Given the description of an element on the screen output the (x, y) to click on. 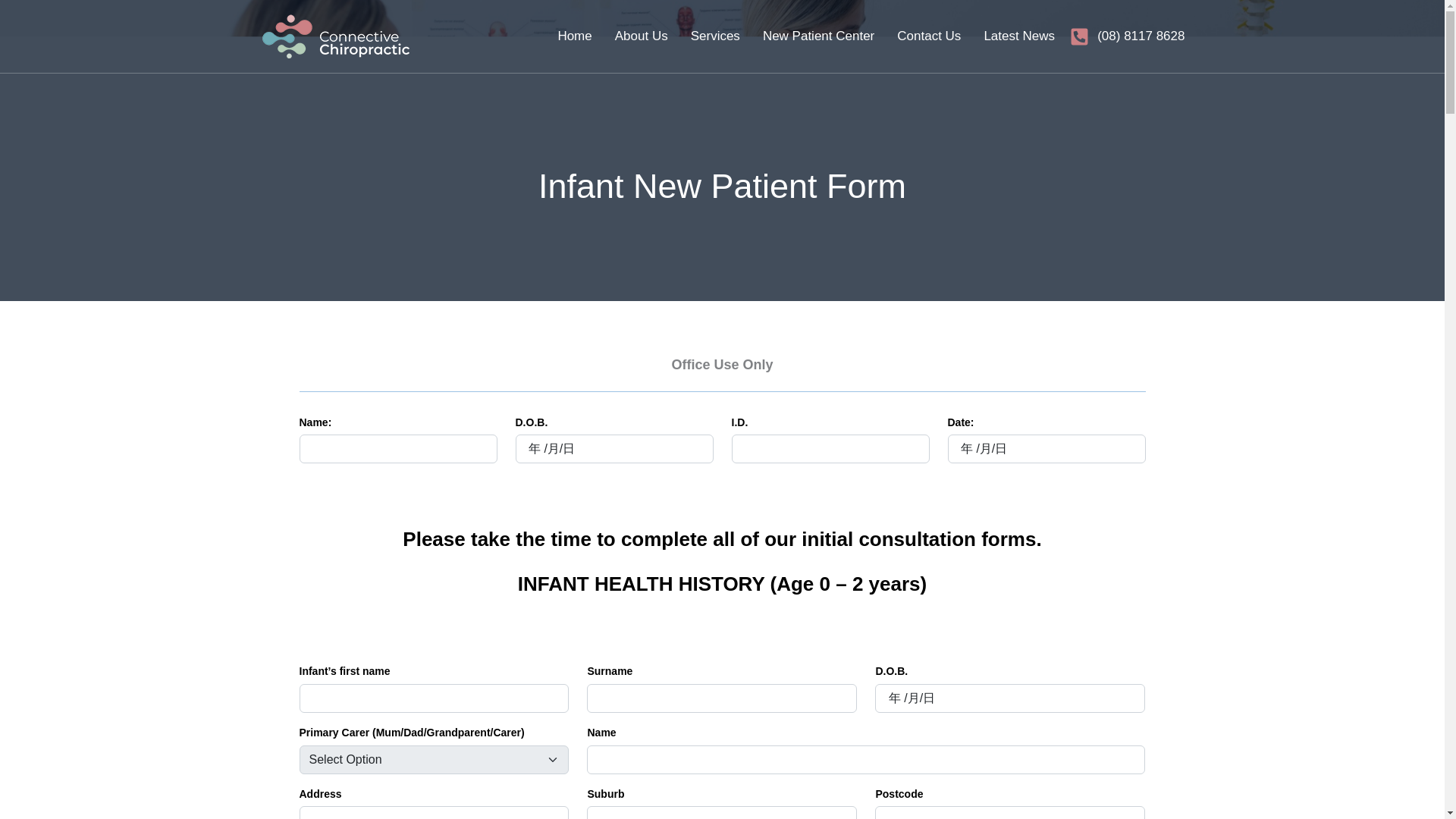
Latest News (1019, 36)
Home (574, 36)
New Patient Center (818, 36)
Services (714, 36)
Contact Us (928, 36)
About Us (641, 36)
